Given the description of an element on the screen output the (x, y) to click on. 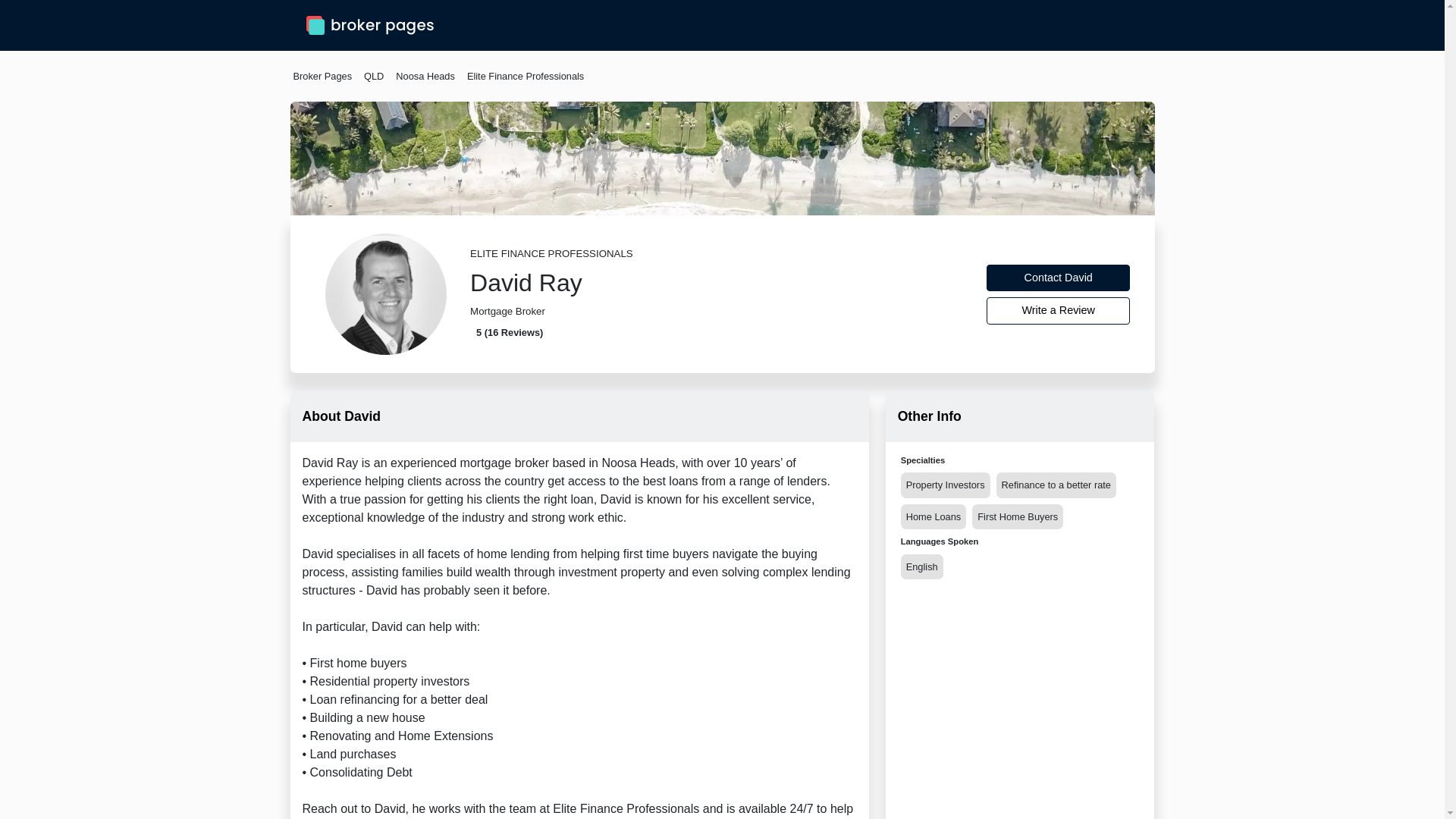
Contact David (1059, 277)
Write a Review (1059, 310)
Broker Pages (322, 75)
Noosa Heads (425, 75)
